Given the description of an element on the screen output the (x, y) to click on. 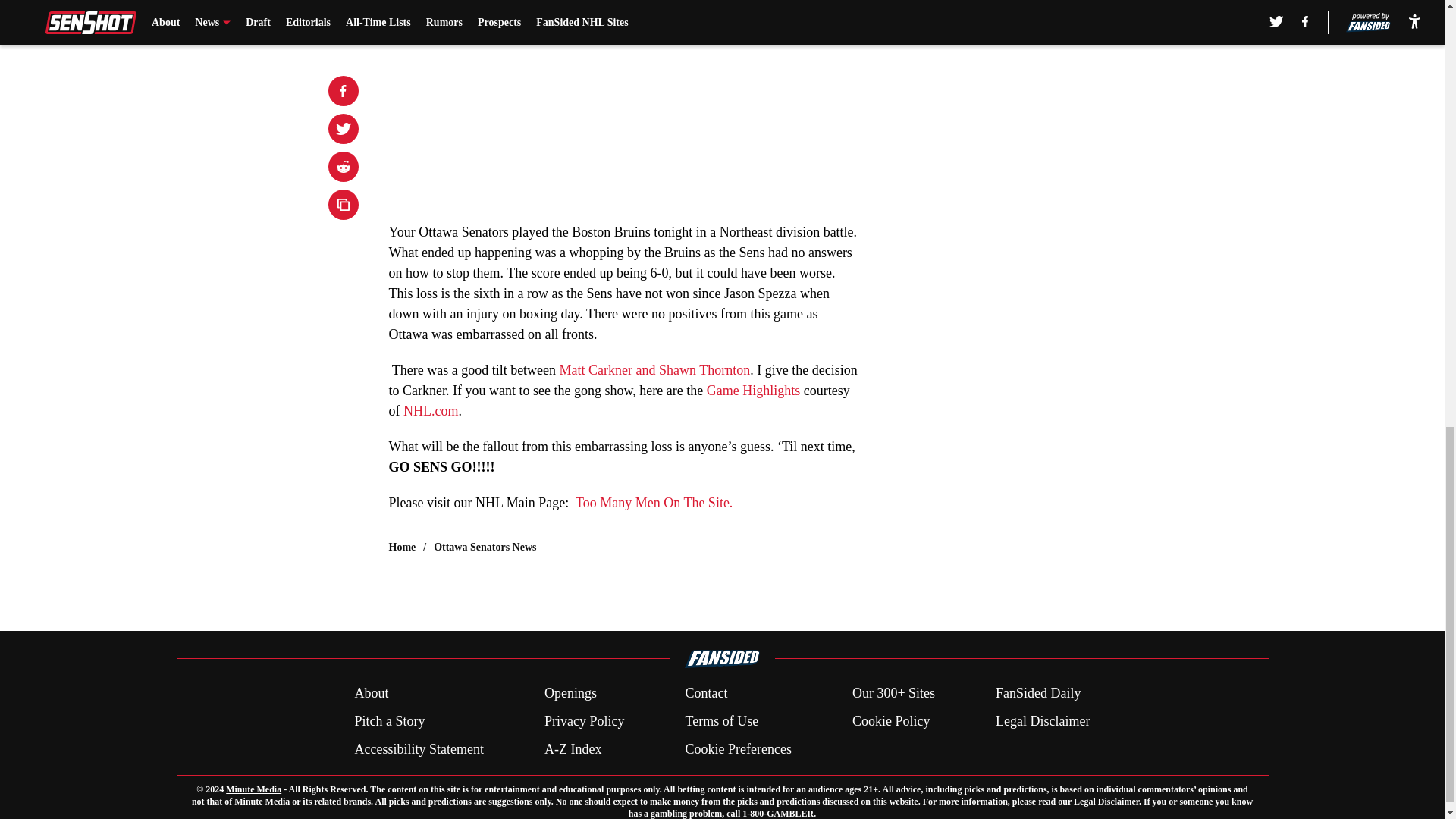
About (370, 693)
Too Many Men On The Site. (653, 502)
Accessibility Statement (418, 749)
Matt Carkner and Shawn Thornton (655, 369)
Game Highlights (753, 390)
Contact (705, 693)
Pitch a Story (389, 721)
Openings (570, 693)
Cookie Policy (890, 721)
Terms of Use (721, 721)
